Given the description of an element on the screen output the (x, y) to click on. 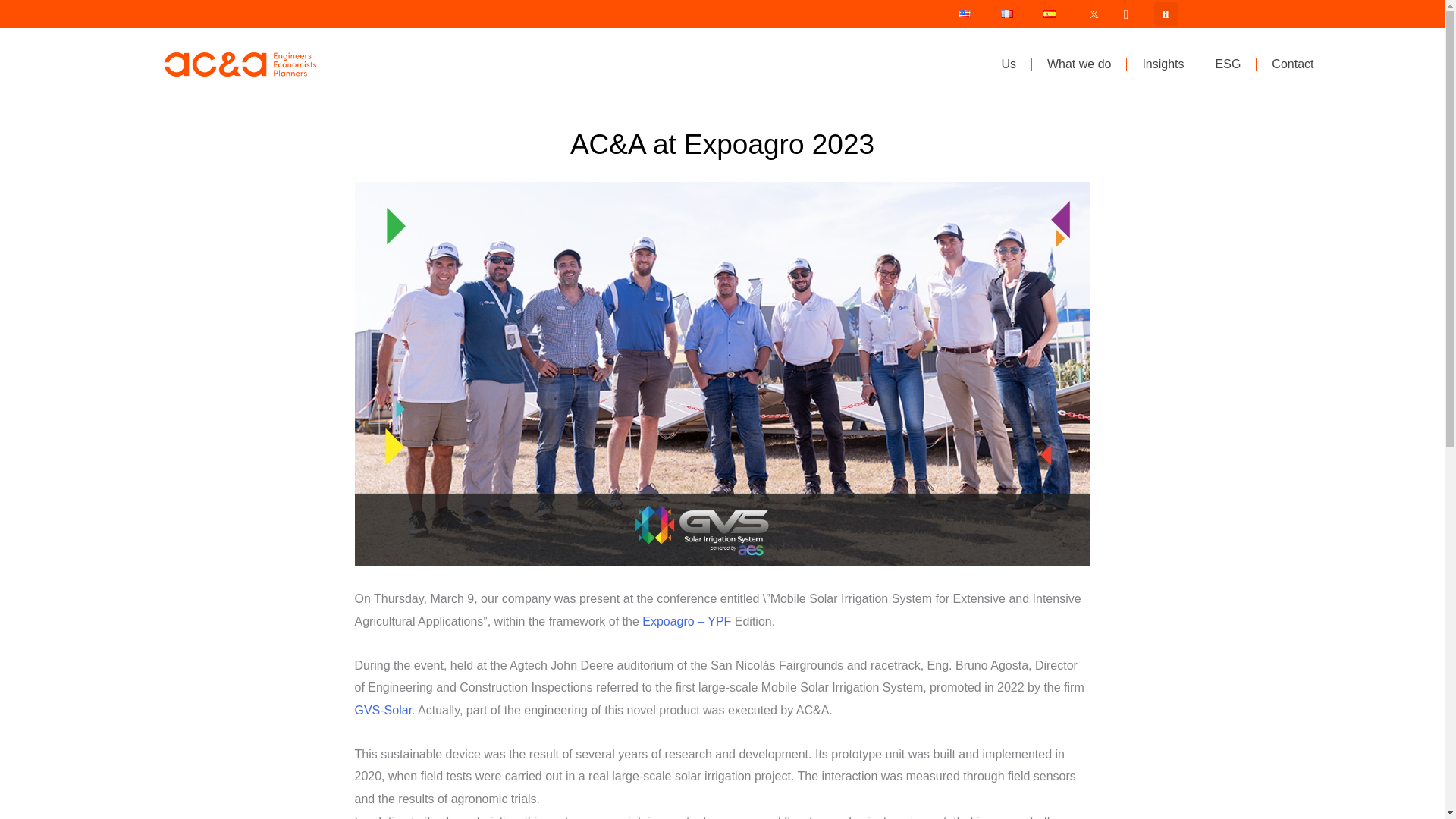
ESG (1227, 64)
Us (1007, 64)
Insights (1162, 64)
GVS-Solar (383, 709)
What we do (1078, 64)
Contact (1291, 64)
